Given the description of an element on the screen output the (x, y) to click on. 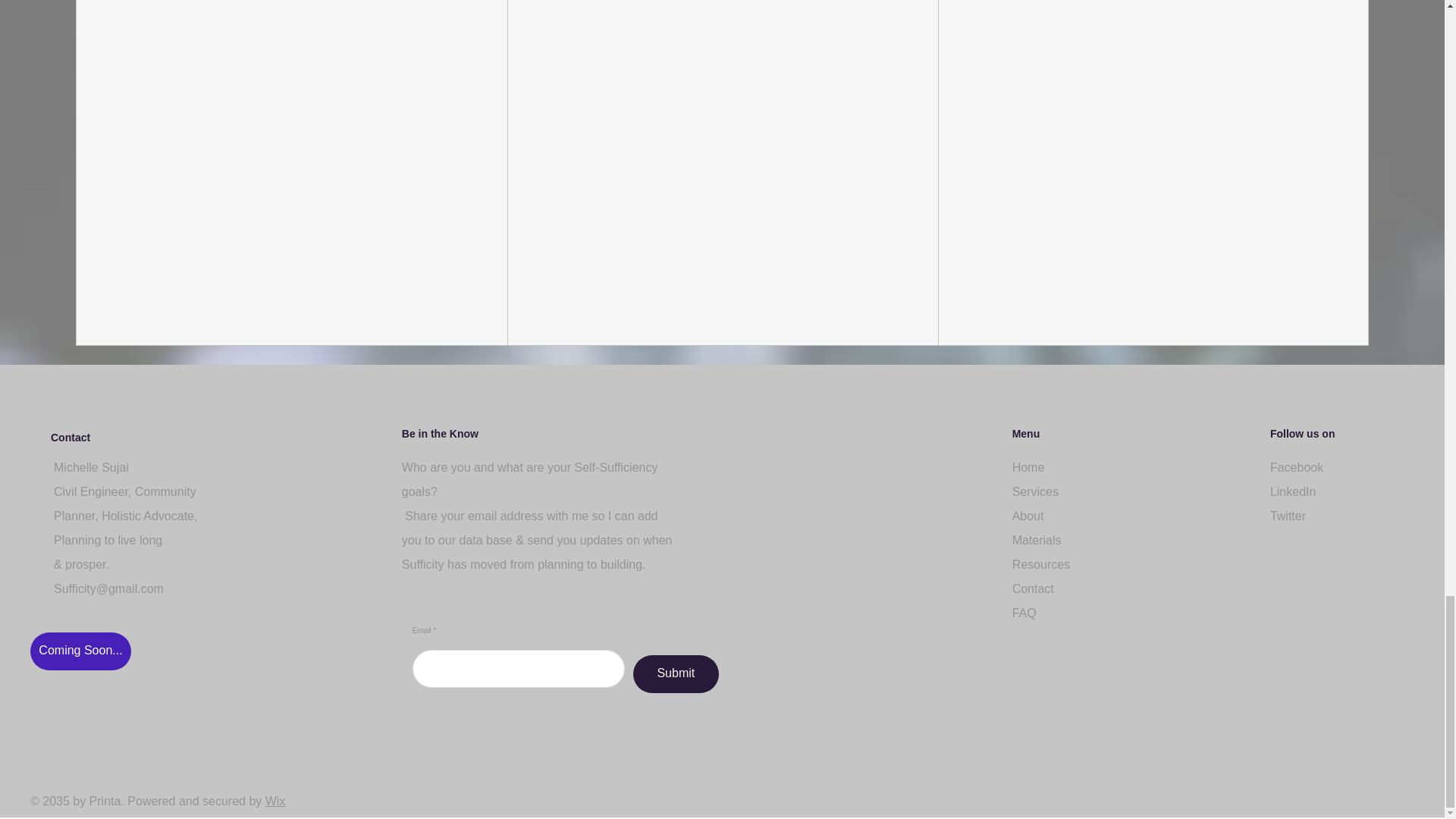
Resources (1040, 563)
Twitter (1287, 515)
Home (1028, 467)
Wix (274, 800)
Contact (1032, 588)
FAQ (1023, 612)
Submit (676, 673)
About (1027, 515)
LinkedIn (1292, 491)
Facebook (1296, 467)
Services (1034, 491)
Materials (1036, 540)
Coming Soon... (80, 651)
